Given the description of an element on the screen output the (x, y) to click on. 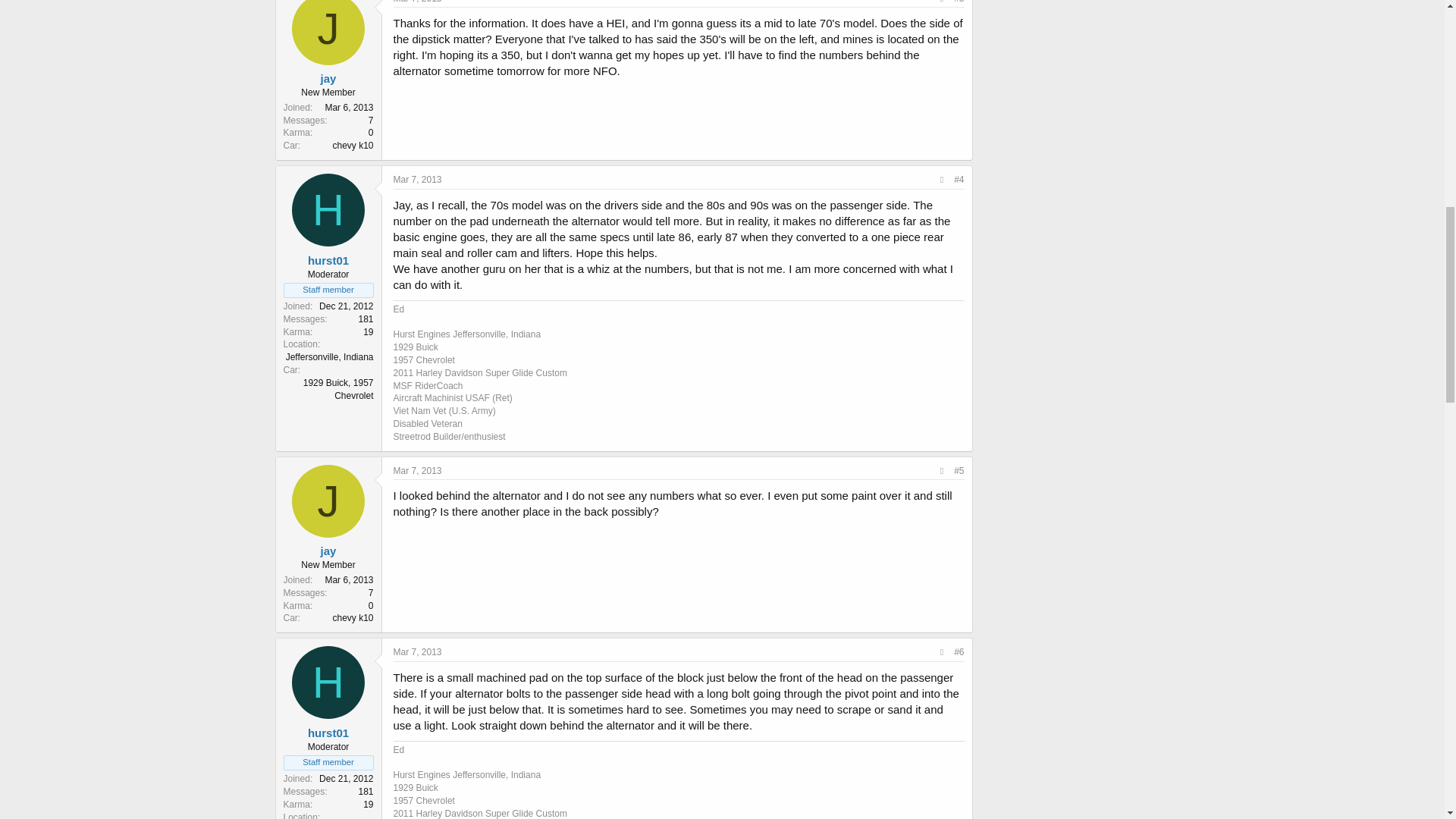
Mar 7, 2013 at 1:22 AM (417, 179)
Mar 7, 2013 at 9:52 AM (417, 652)
Mar 7, 2013 at 8:11 AM (417, 470)
Mar 7, 2013 at 1:10 AM (417, 2)
